Given the description of an element on the screen output the (x, y) to click on. 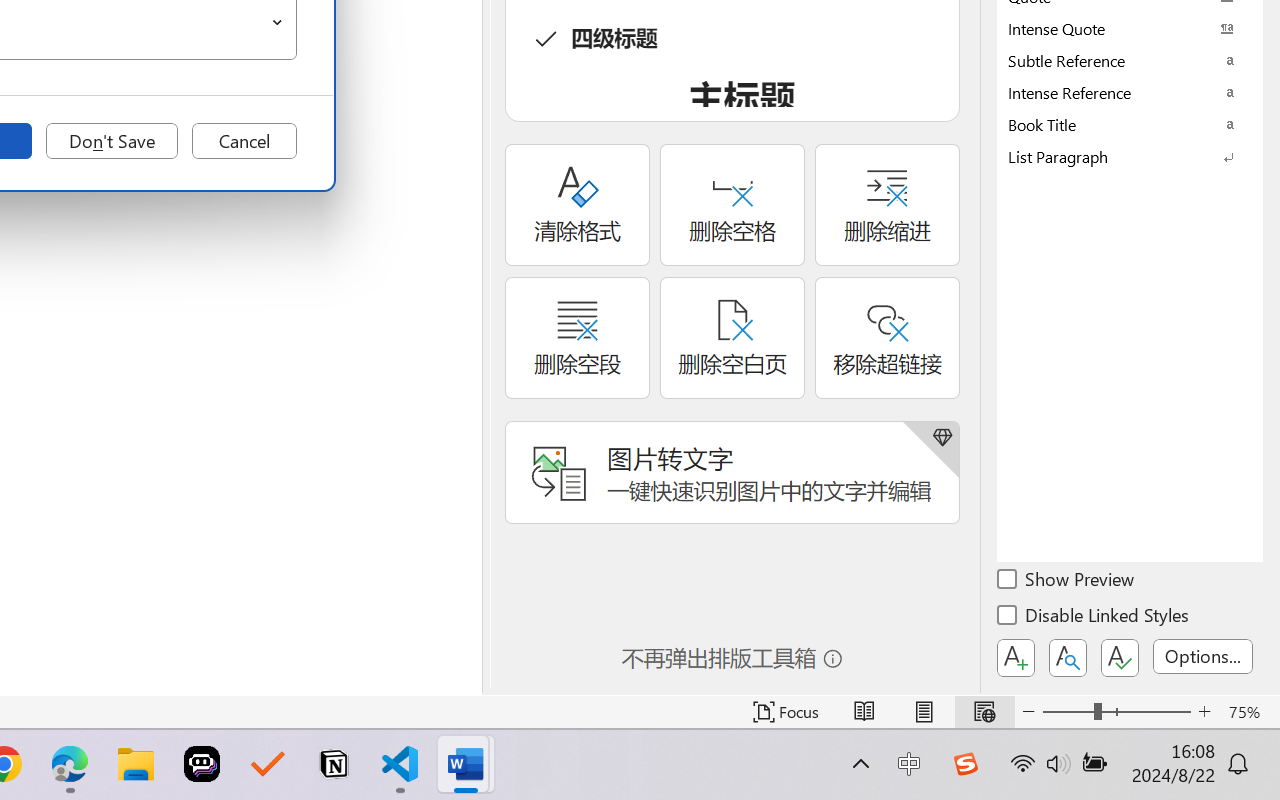
Class: NetUIImage (1116, 156)
Intense Reference (1130, 92)
Options... (1203, 656)
Zoom In (1204, 712)
Class: Image (965, 764)
List Paragraph (1130, 156)
